Given the description of an element on the screen output the (x, y) to click on. 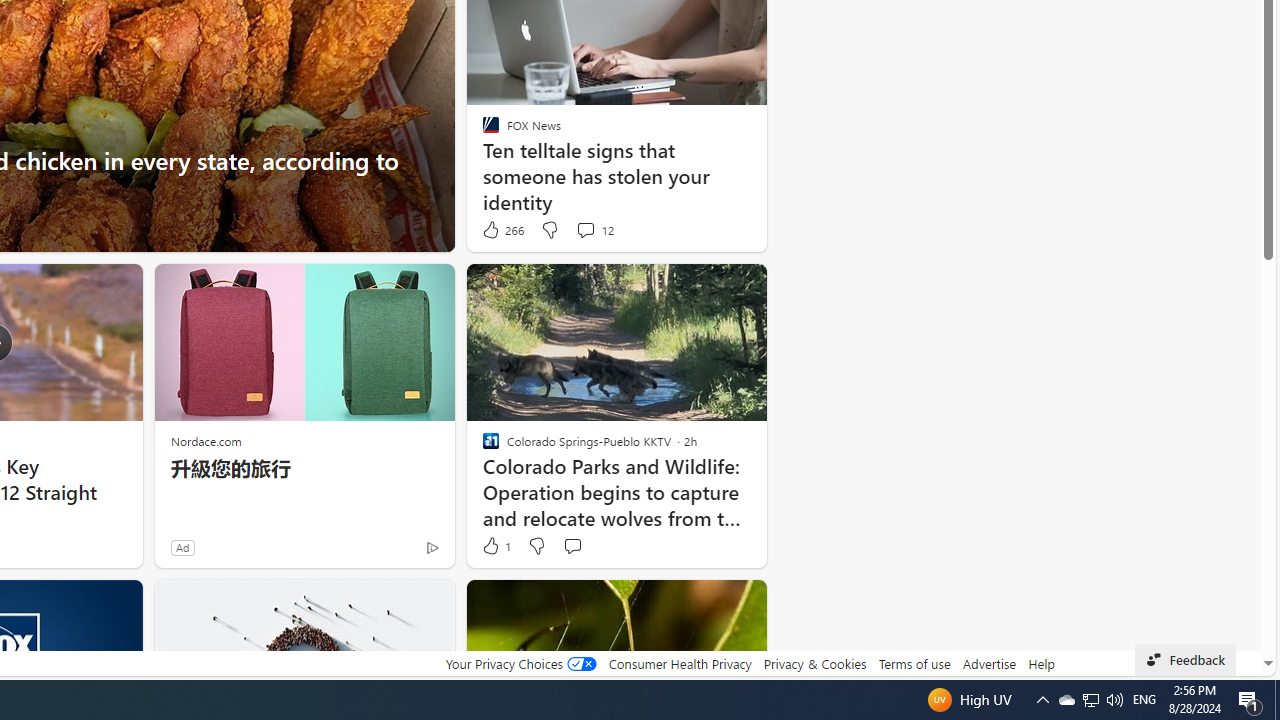
Privacy & Cookies (814, 663)
Nordace.com (205, 440)
1 Like (495, 546)
Help (1040, 663)
Your Privacy Choices (520, 663)
Terms of use (914, 663)
View comments 12 Comment (594, 230)
